Given the description of an element on the screen output the (x, y) to click on. 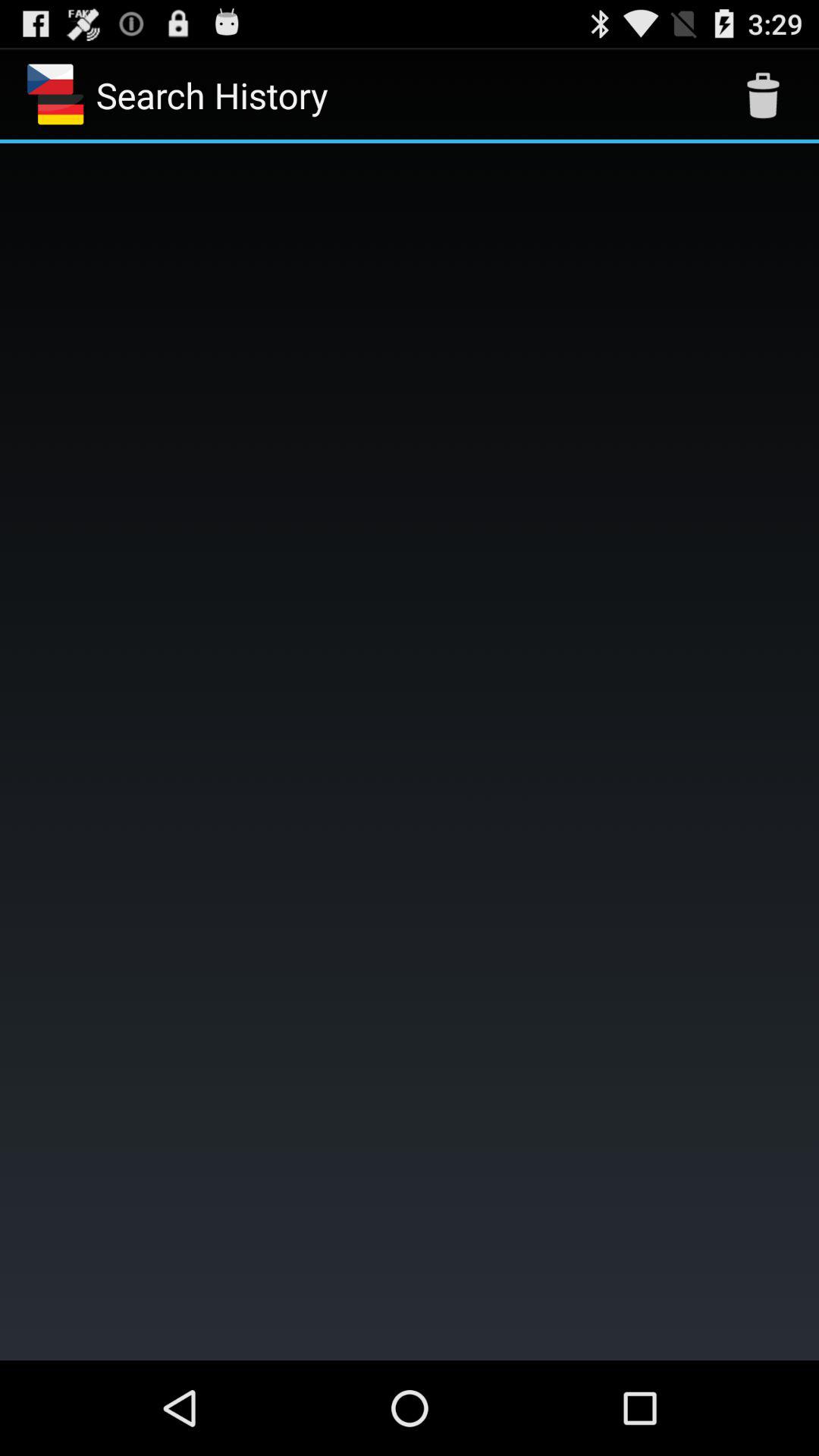
choose the icon next to search history icon (763, 95)
